Given the description of an element on the screen output the (x, y) to click on. 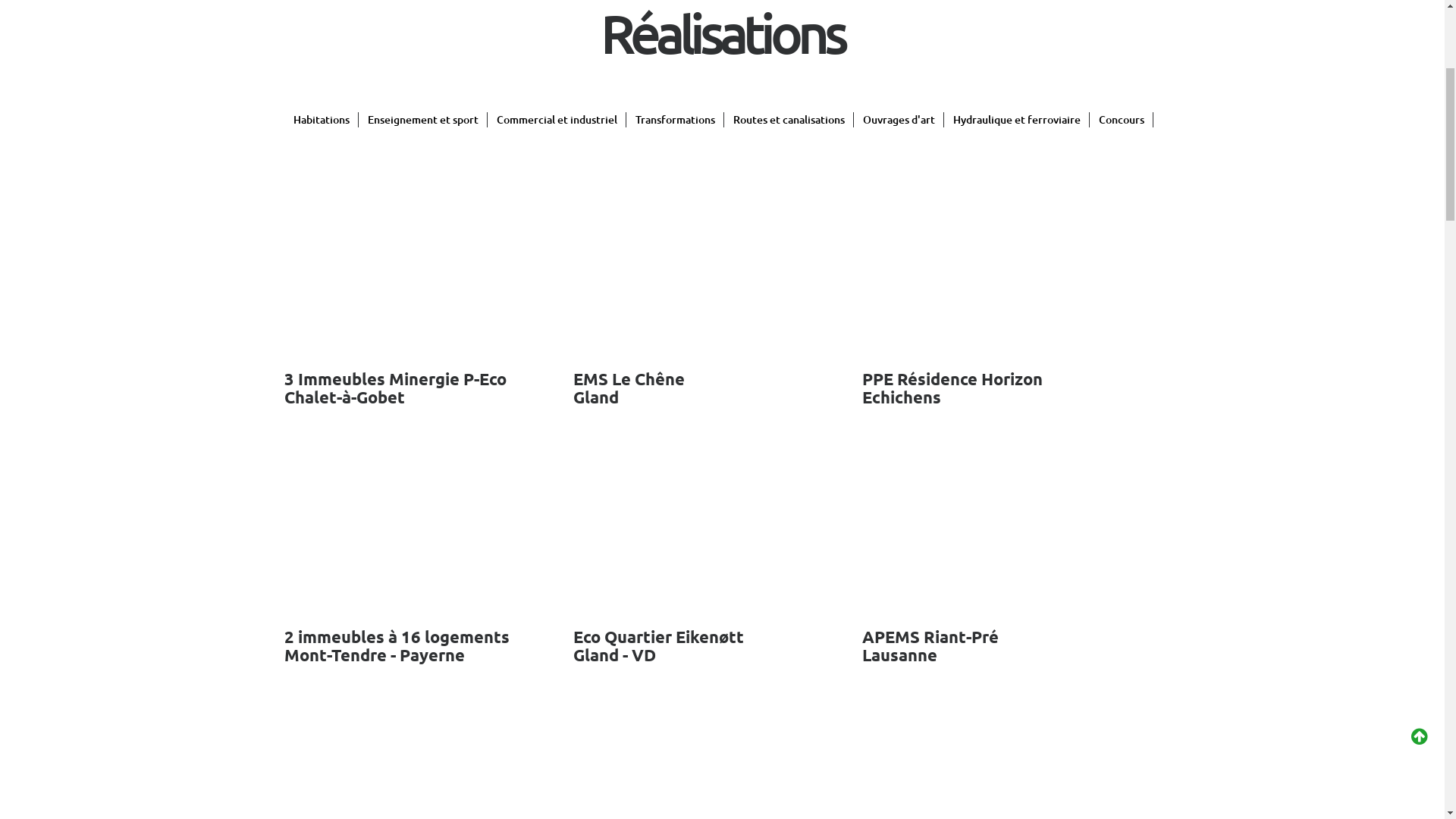
Commercial et industriel Element type: text (556, 428)
Ouvrages d'art Element type: text (898, 428)
Hydraulique et ferroviaire Element type: text (1016, 428)
Routes et canalisations Element type: text (788, 428)
CONTACT Element type: text (1268, 55)
PRESTATIONS Element type: text (1057, 55)
Transformations Element type: text (675, 428)
Concours Element type: text (1121, 428)
Enseignement et sport Element type: text (422, 428)
SOCIETE Element type: text (837, 55)
Habitations Element type: text (321, 428)
ACCUEIL Element type: text (752, 55)
